Given the description of an element on the screen output the (x, y) to click on. 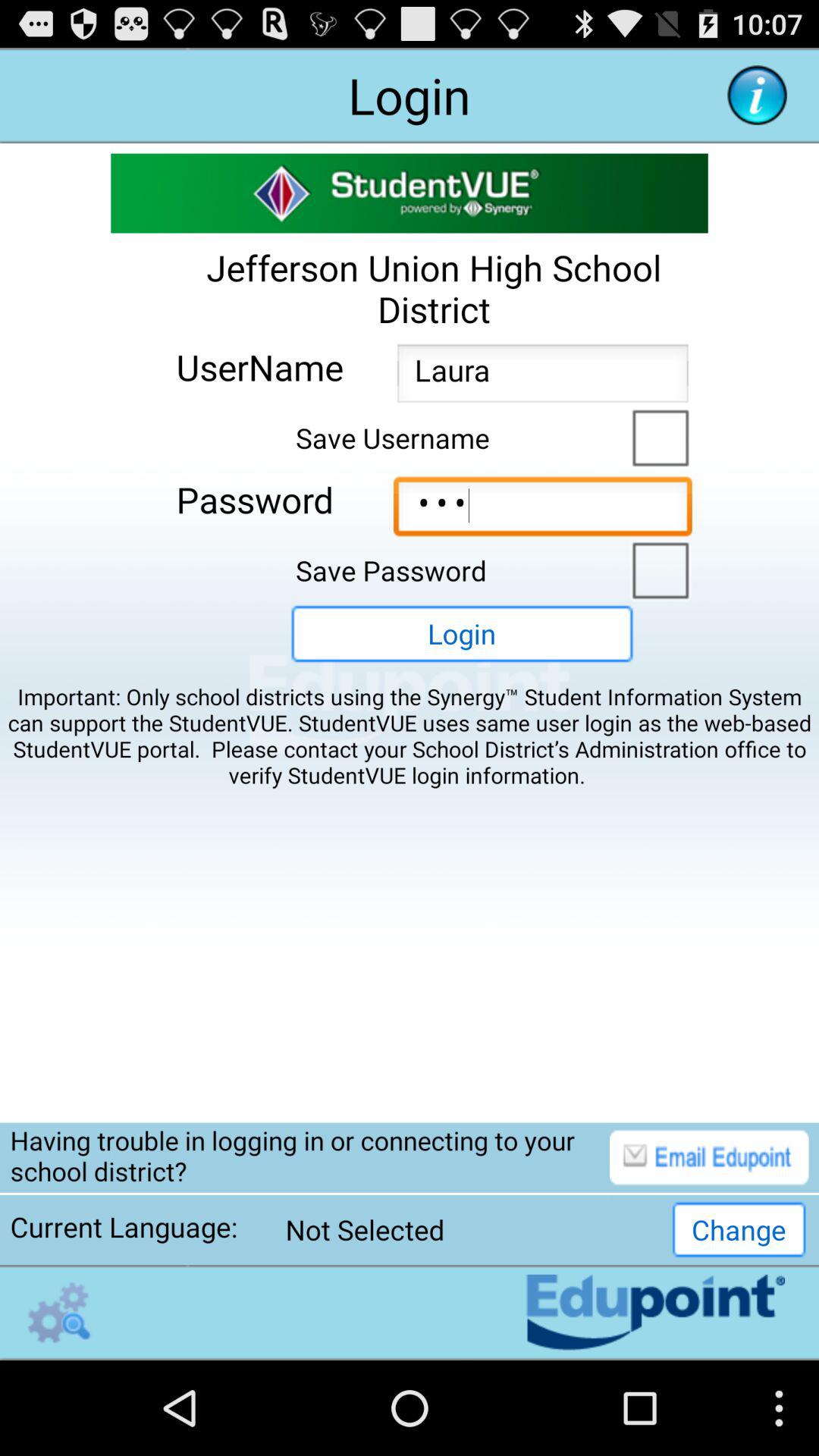
if you want to save the password select the button (657, 569)
